Given the description of an element on the screen output the (x, y) to click on. 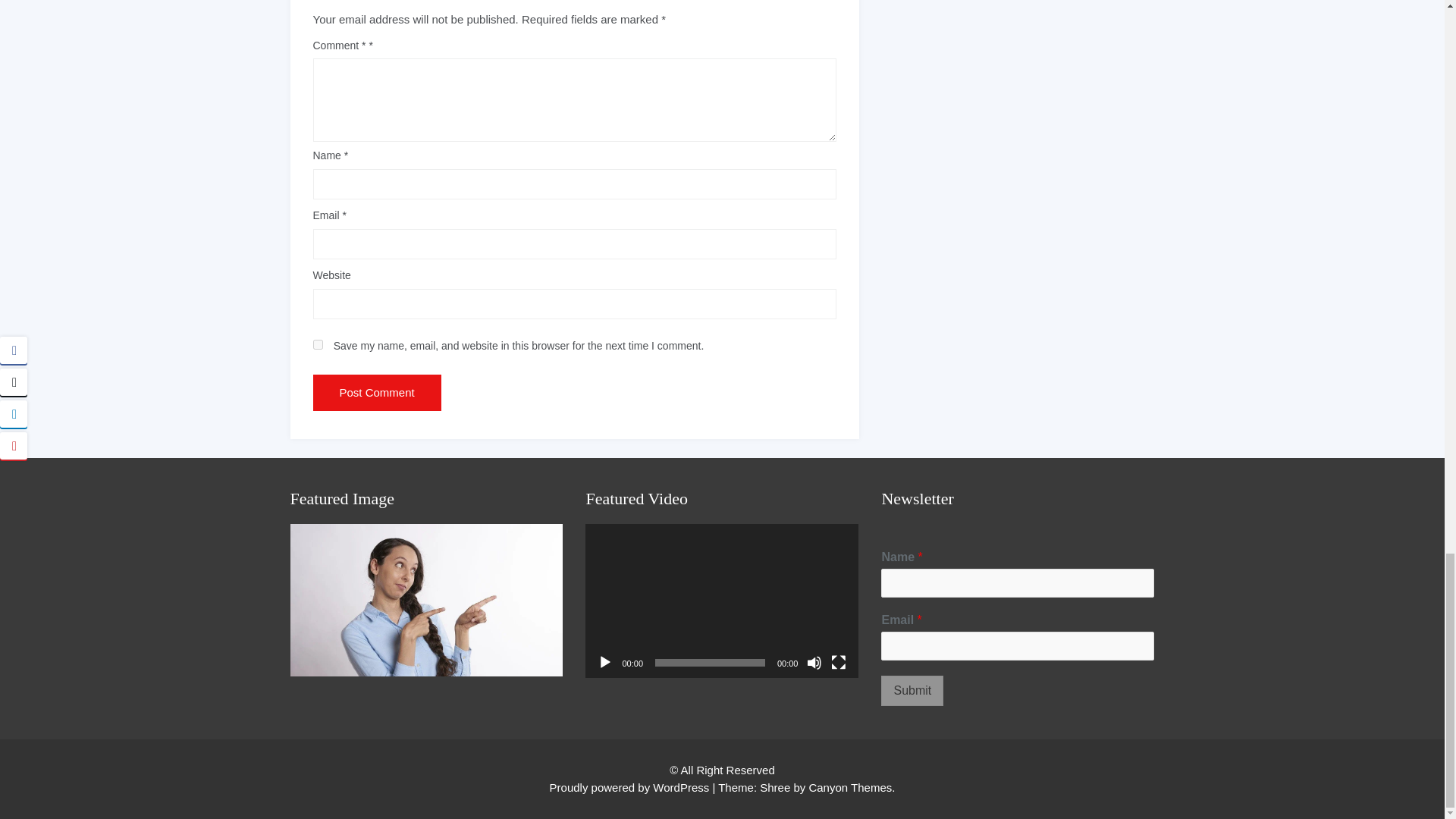
Fullscreen (838, 662)
Mute (814, 662)
Play (604, 662)
Post Comment (377, 392)
Post Comment (377, 392)
yes (317, 344)
